Given the description of an element on the screen output the (x, y) to click on. 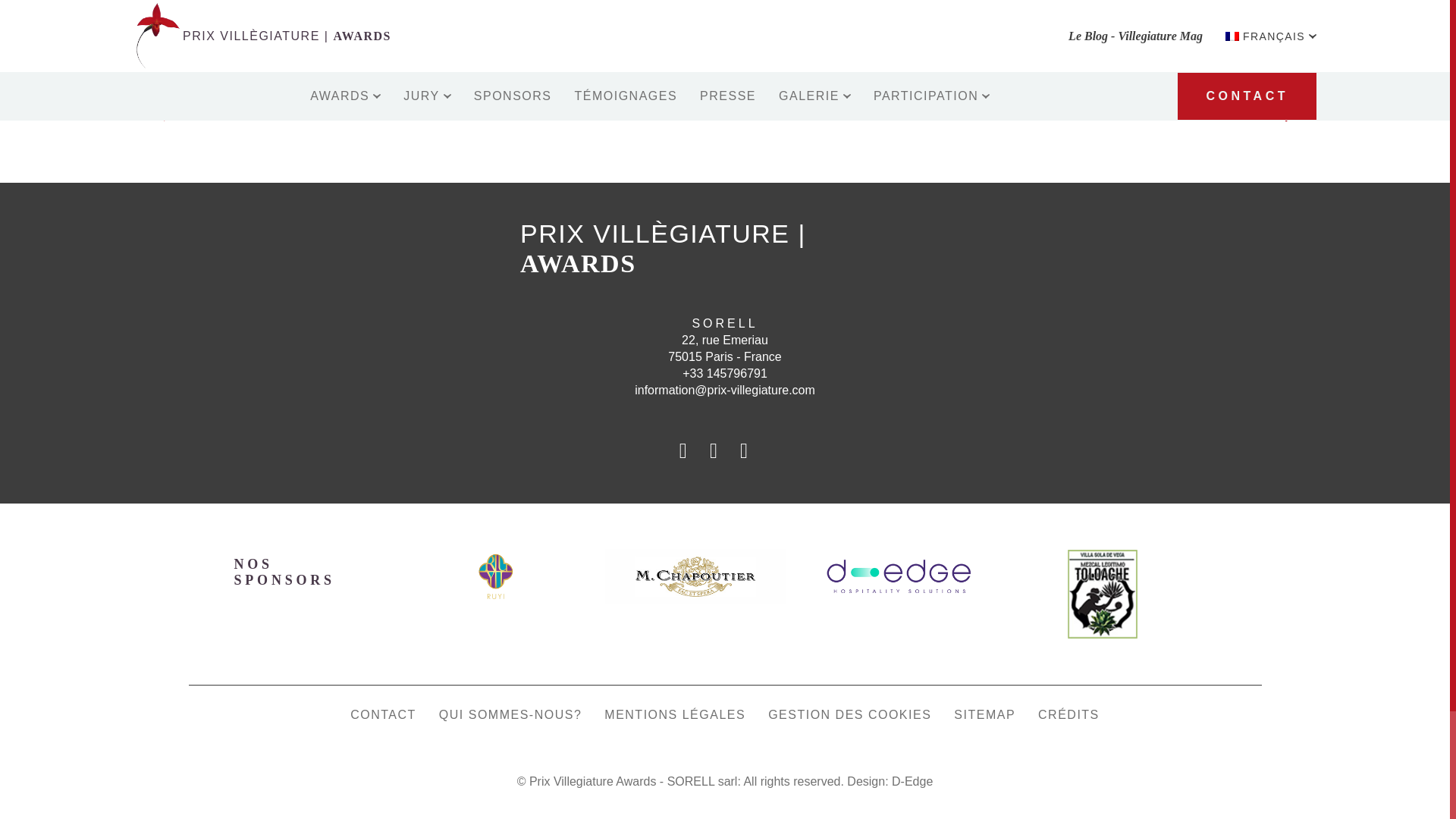
Lockdown Takeout (1242, 106)
Swimmingly Chic (203, 106)
